Given the description of an element on the screen output the (x, y) to click on. 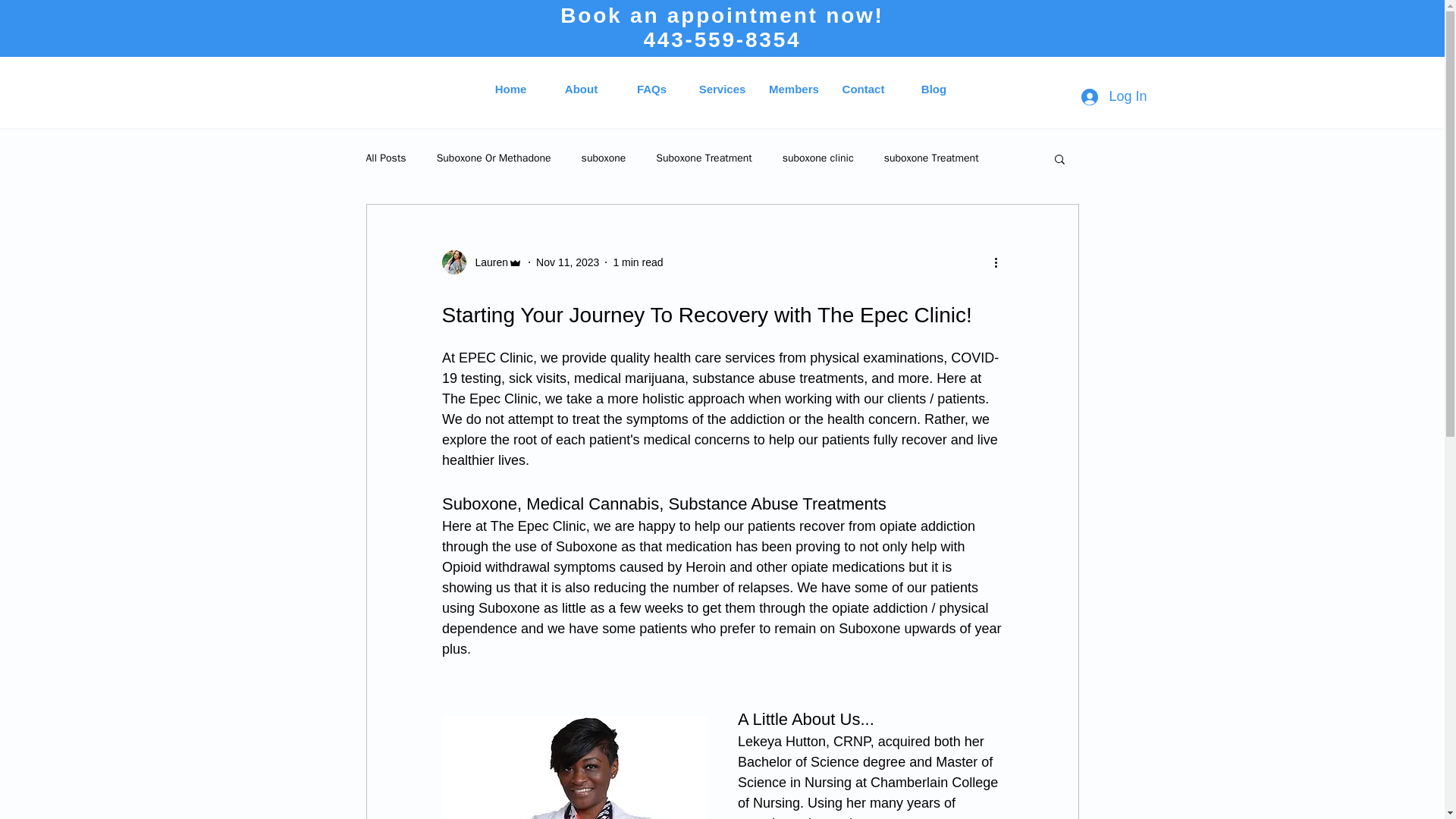
About (580, 89)
1 min read (637, 262)
Contact (863, 89)
Lauren (481, 262)
Lauren (486, 262)
Members (792, 89)
Nov 11, 2023 (566, 262)
suboxone Treatment (930, 158)
Home (511, 89)
suboxone clinic (818, 158)
Services (722, 89)
All Posts (385, 158)
Blog (933, 89)
suboxone (603, 158)
FAQs (651, 89)
